Given the description of an element on the screen output the (x, y) to click on. 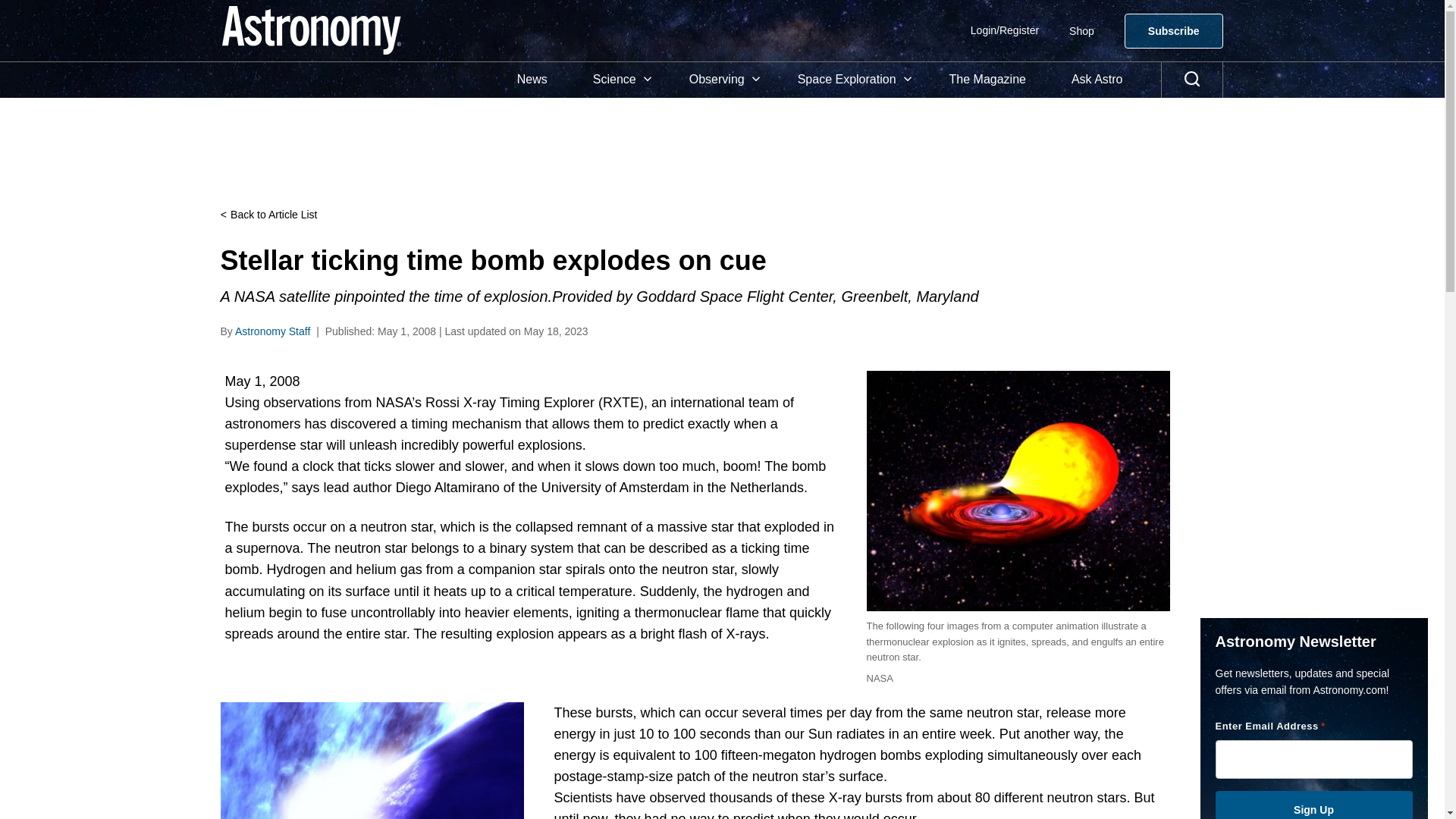
Subscribe (1173, 30)
Observing (720, 79)
Science (618, 79)
News (532, 79)
Sign Up (1313, 805)
Space Exploration (850, 79)
Shop (1081, 30)
Posts by Astronomy Staff (272, 331)
Search (1192, 79)
Ask Astro (1096, 79)
